Given the description of an element on the screen output the (x, y) to click on. 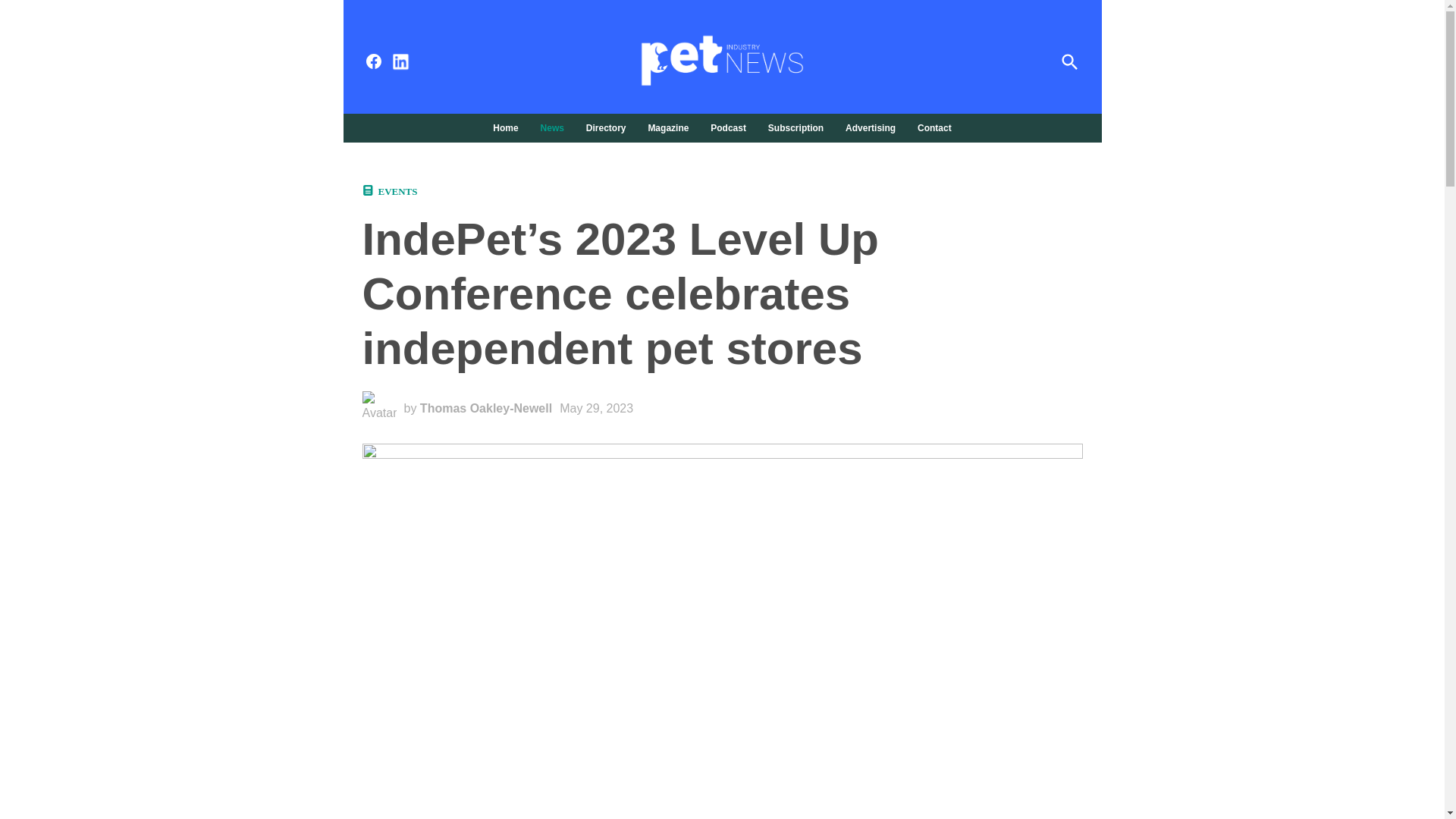
LinkedIn (400, 61)
Magazine (667, 127)
Contact (931, 127)
Thomas Oakley-Newell (485, 408)
Directory (605, 127)
Home (509, 127)
News (552, 127)
Podcast (728, 127)
Advertising (870, 127)
EVENTS (396, 190)
Pet Industry News (960, 71)
Subscription (795, 127)
Facebook (372, 61)
